Given the description of an element on the screen output the (x, y) to click on. 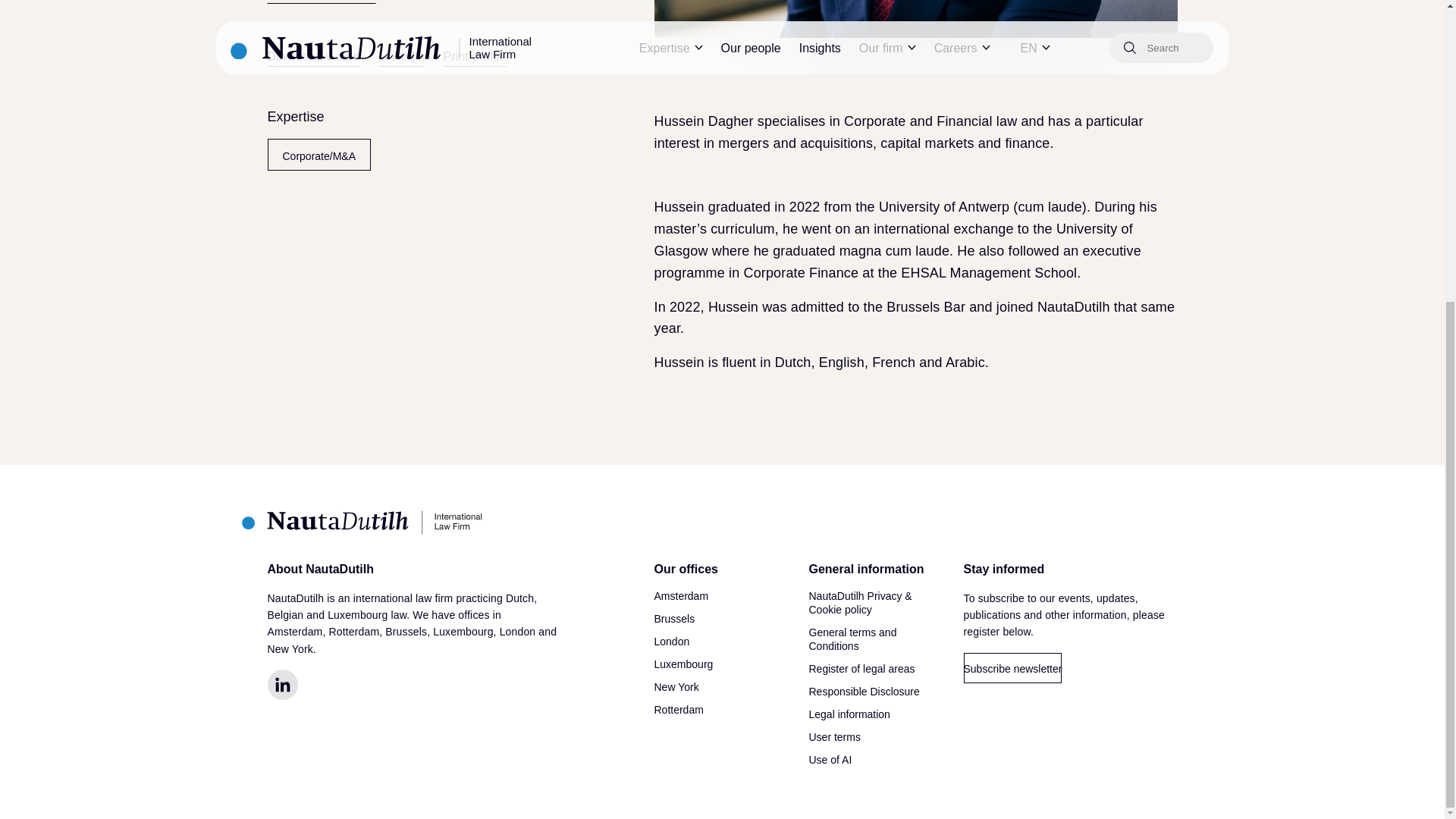
LinkedIn (401, 56)
Download v-card (312, 56)
Print profile (475, 56)
Amsterdam (680, 595)
